Given the description of an element on the screen output the (x, y) to click on. 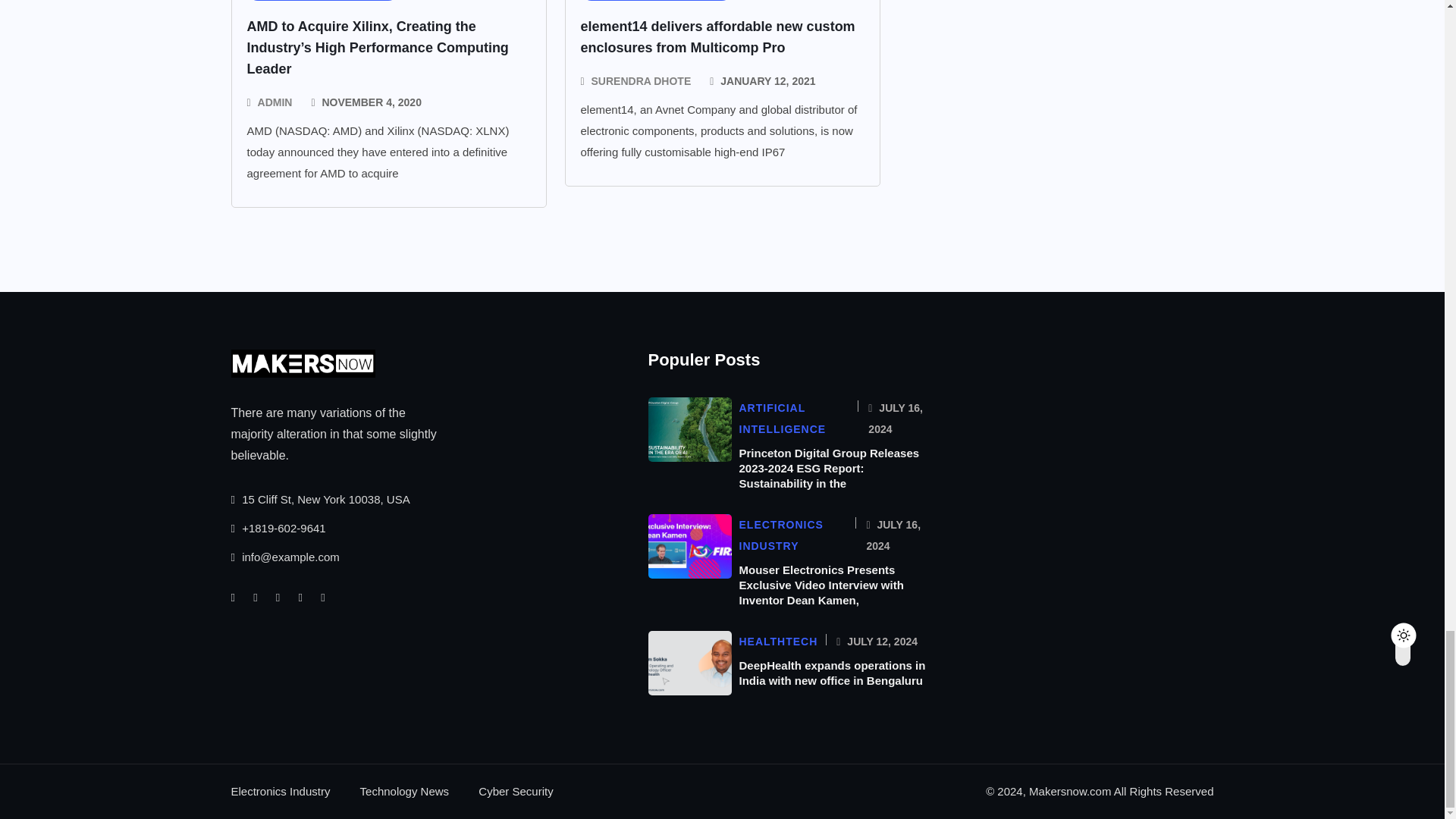
Posts by Surendra Dhote (641, 80)
Posts by admin (274, 102)
